Given the description of an element on the screen output the (x, y) to click on. 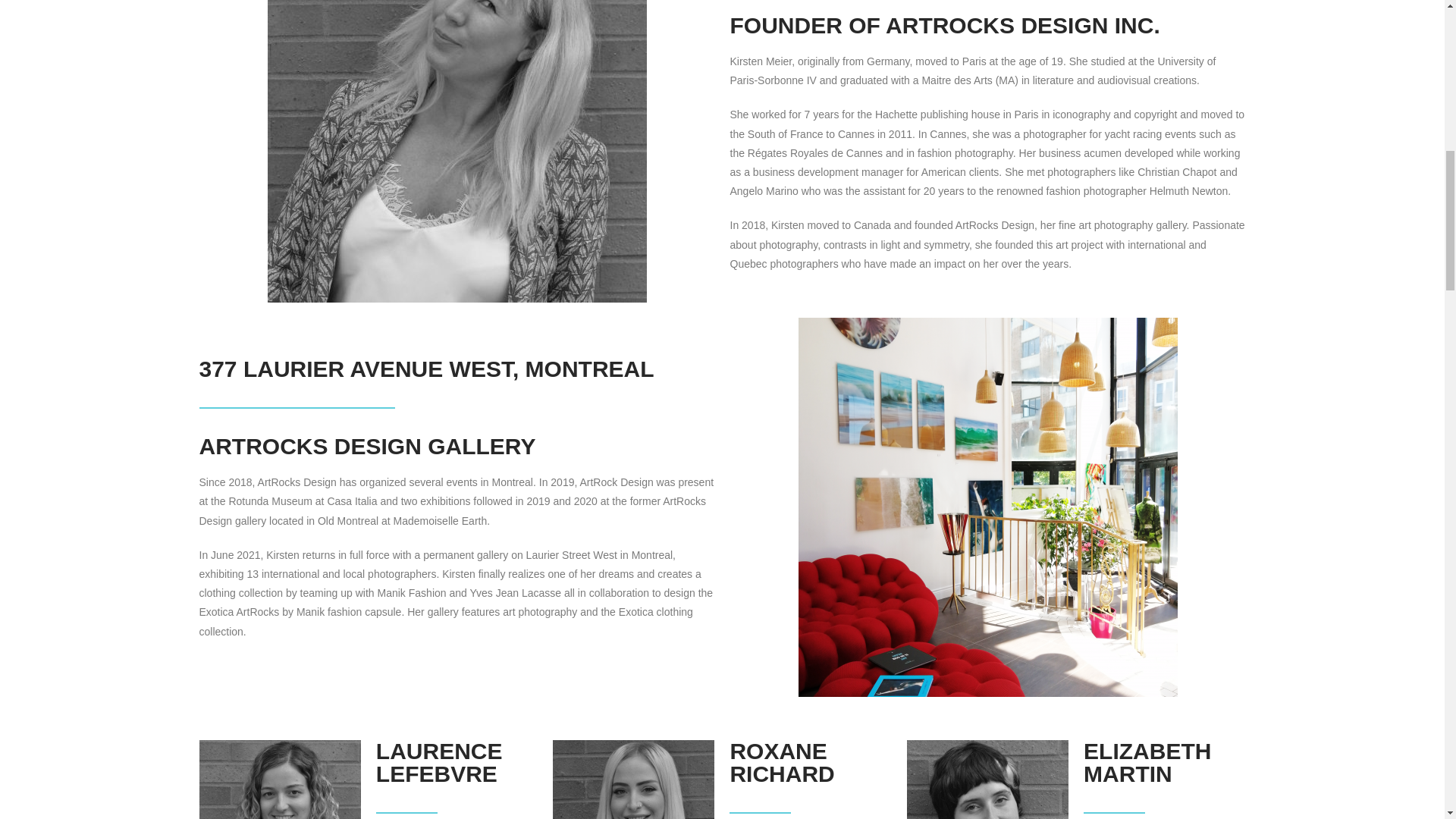
laurence-grey-crop (278, 779)
eli-greycrop (987, 779)
roxanne-greycrop (633, 779)
kirstengrey (456, 151)
